Given the description of an element on the screen output the (x, y) to click on. 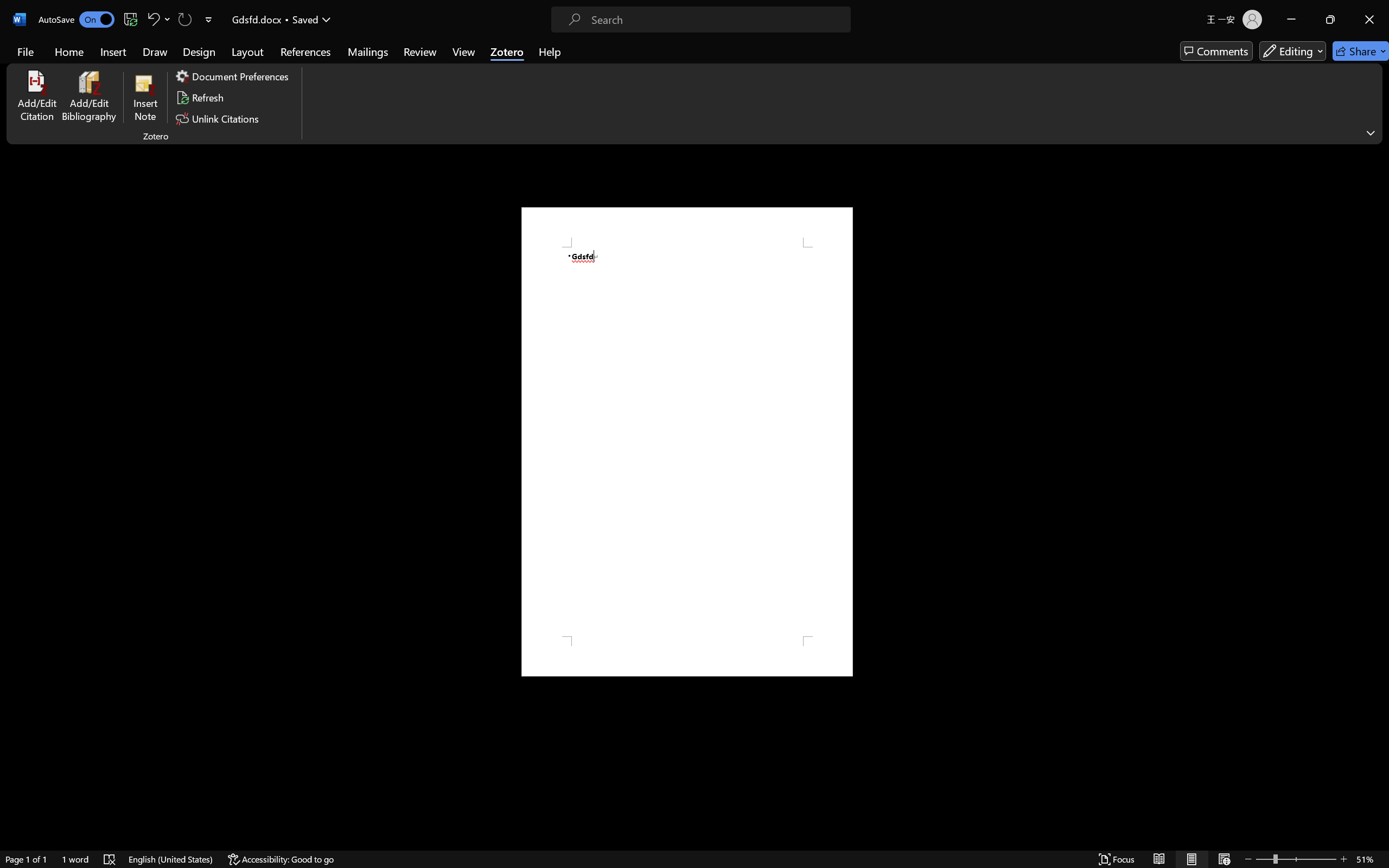
Page 1 content (686, 441)
